Given the description of an element on the screen output the (x, y) to click on. 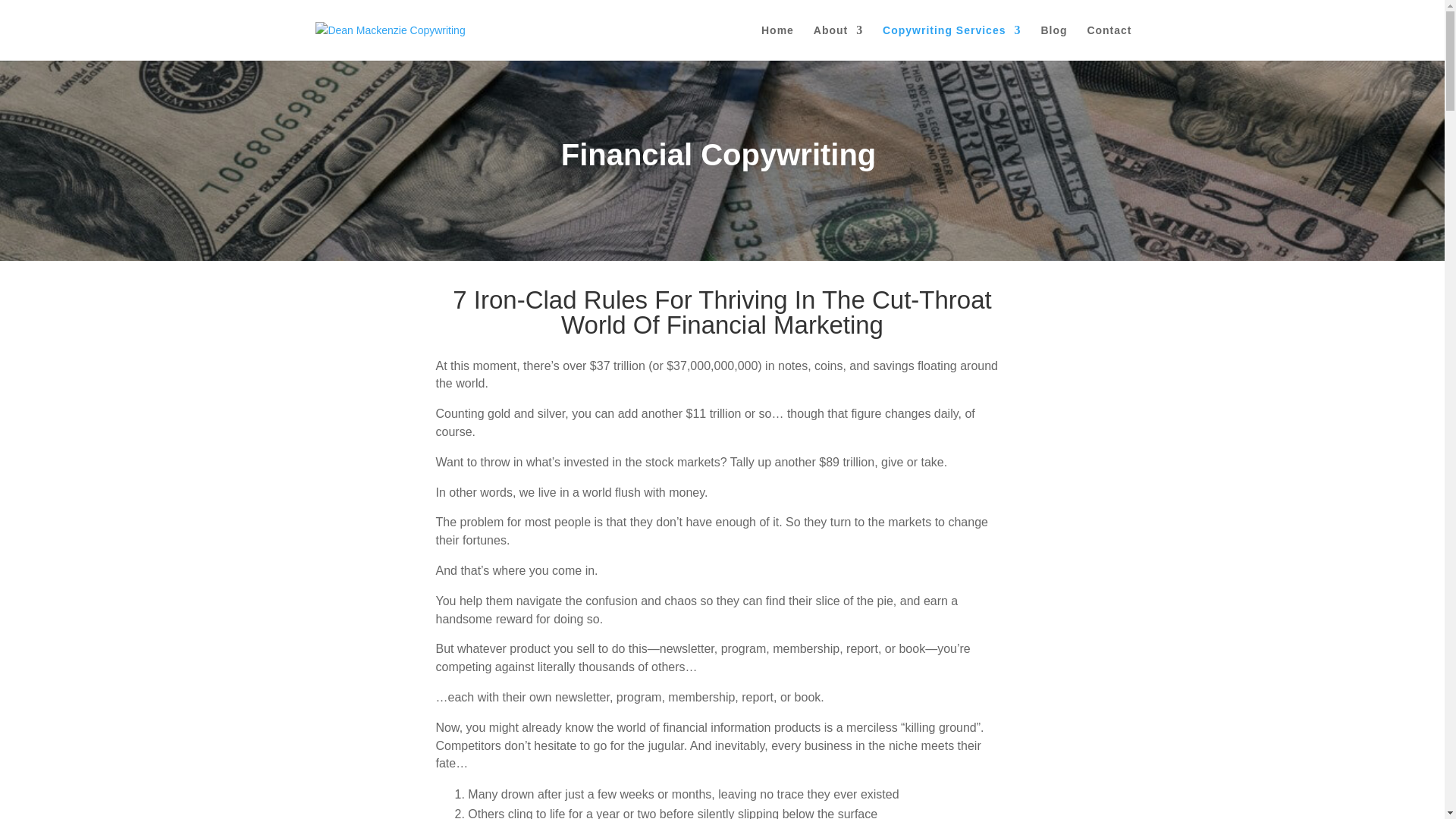
Contact (1108, 42)
Copywriting Services (951, 42)
About (838, 42)
Home (777, 42)
